Given the description of an element on the screen output the (x, y) to click on. 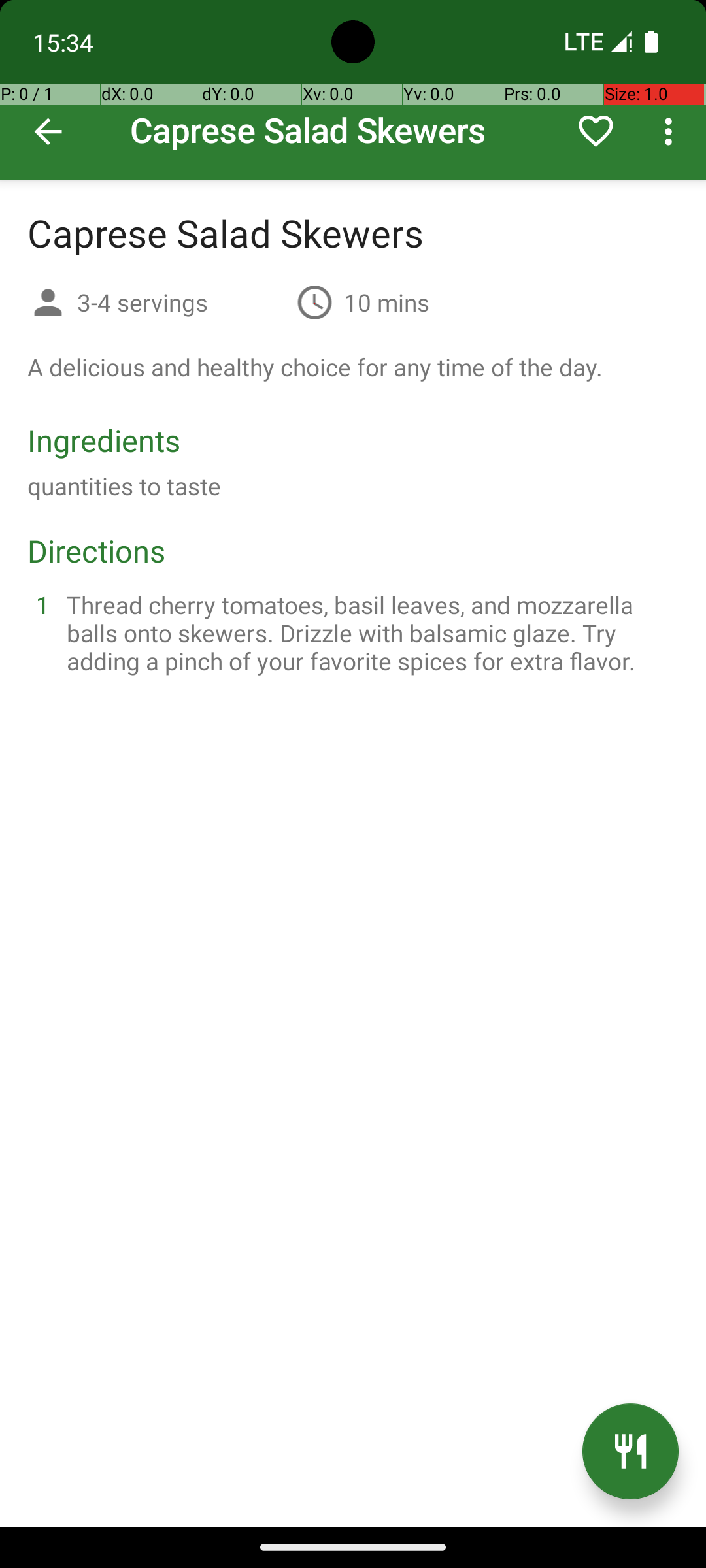
3-4 servings Element type: android.widget.TextView (181, 301)
10 mins Element type: android.widget.TextView (386, 301)
quantities to taste Element type: android.widget.TextView (123, 485)
Thread cherry tomatoes, basil leaves, and mozzarella balls onto skewers. Drizzle with balsamic glaze. Try adding a pinch of your favorite spices for extra flavor. Element type: android.widget.TextView (368, 632)
